Given the description of an element on the screen output the (x, y) to click on. 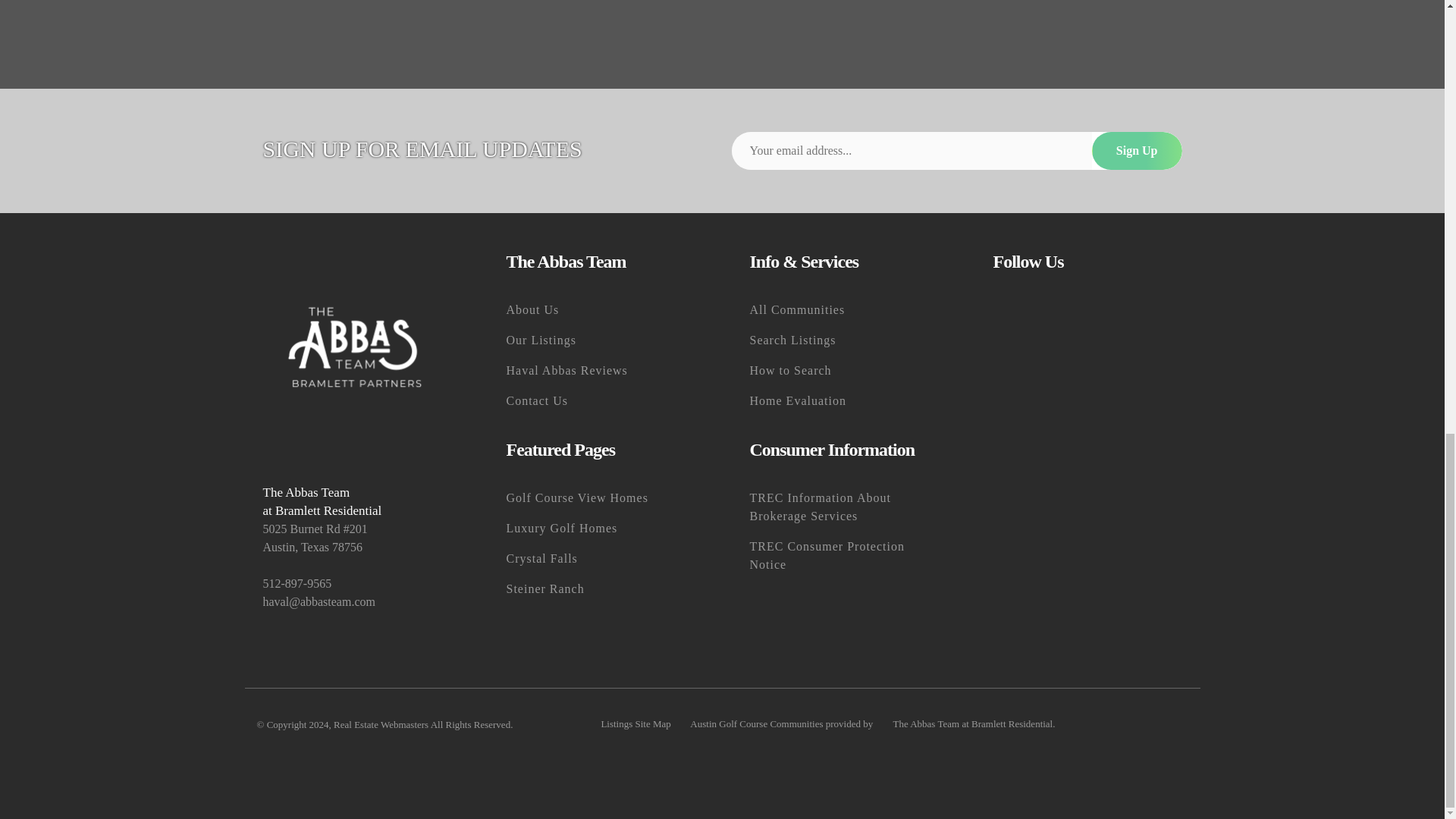
Site Logo (356, 346)
Golf Course View Homes (600, 498)
Our Listings (600, 340)
Contact Us (600, 400)
Crystal Falls (600, 558)
About Us (600, 309)
Luxury Golf Homes (600, 528)
Haval Abbas Reviews (600, 370)
Sign Up (1137, 150)
512-897-9565 (356, 583)
